Given the description of an element on the screen output the (x, y) to click on. 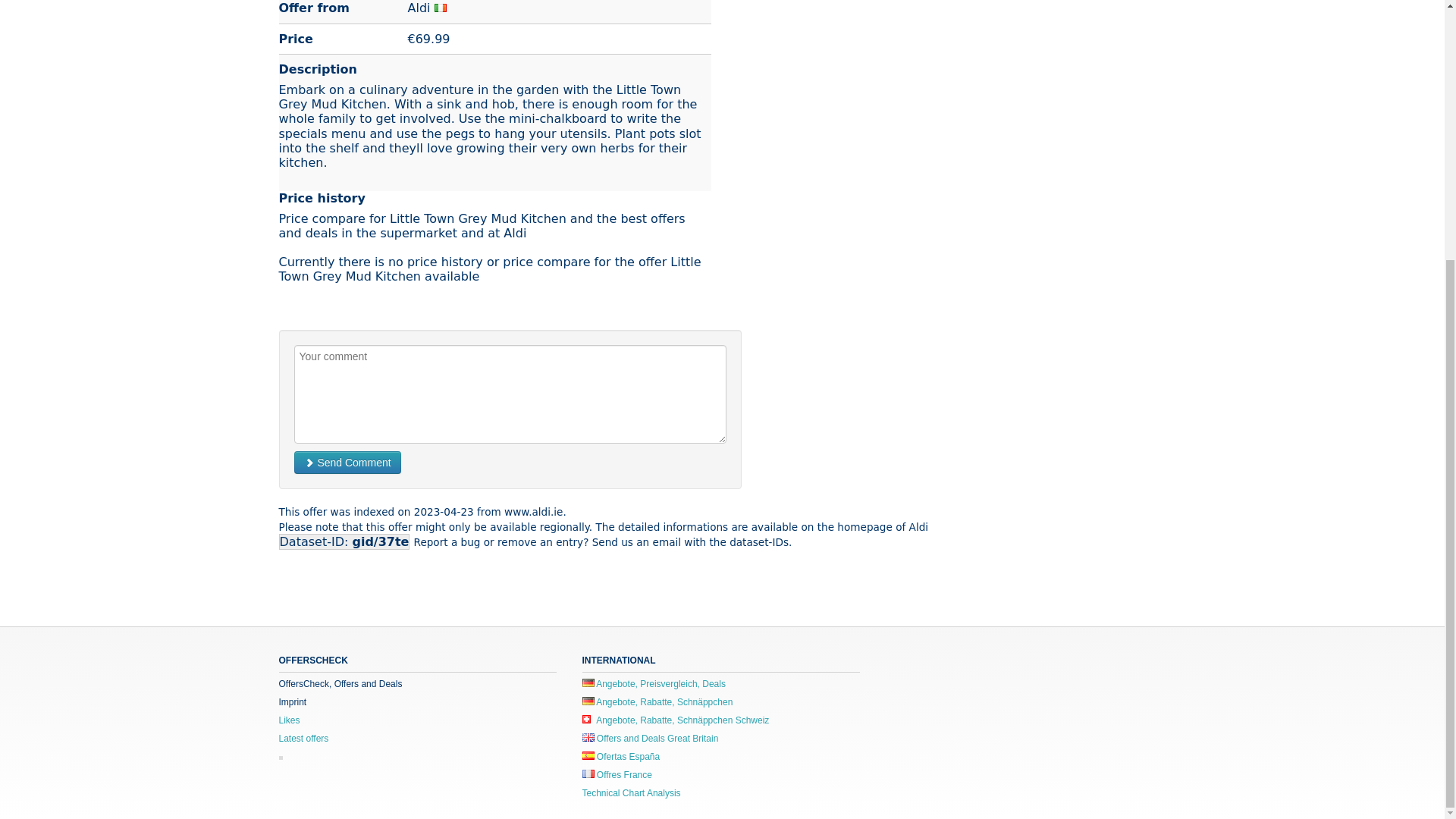
Technical Chart Analysis (631, 792)
Angebote Deutschland (657, 701)
Offres France (617, 774)
Angebote (588, 700)
Latest offers (304, 738)
Angebote, Preisvergleich, Deals (653, 683)
Aldi Ireland (418, 7)
Angebote (588, 682)
Send Comment (347, 462)
Angebote Schweiz (676, 719)
